Given the description of an element on the screen output the (x, y) to click on. 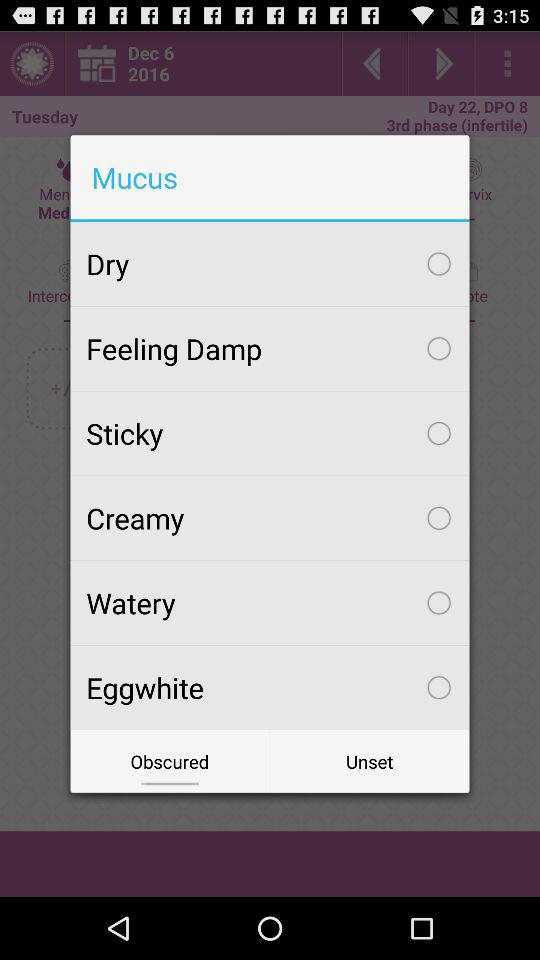
click icon below the eggwhite checkbox (369, 761)
